Given the description of an element on the screen output the (x, y) to click on. 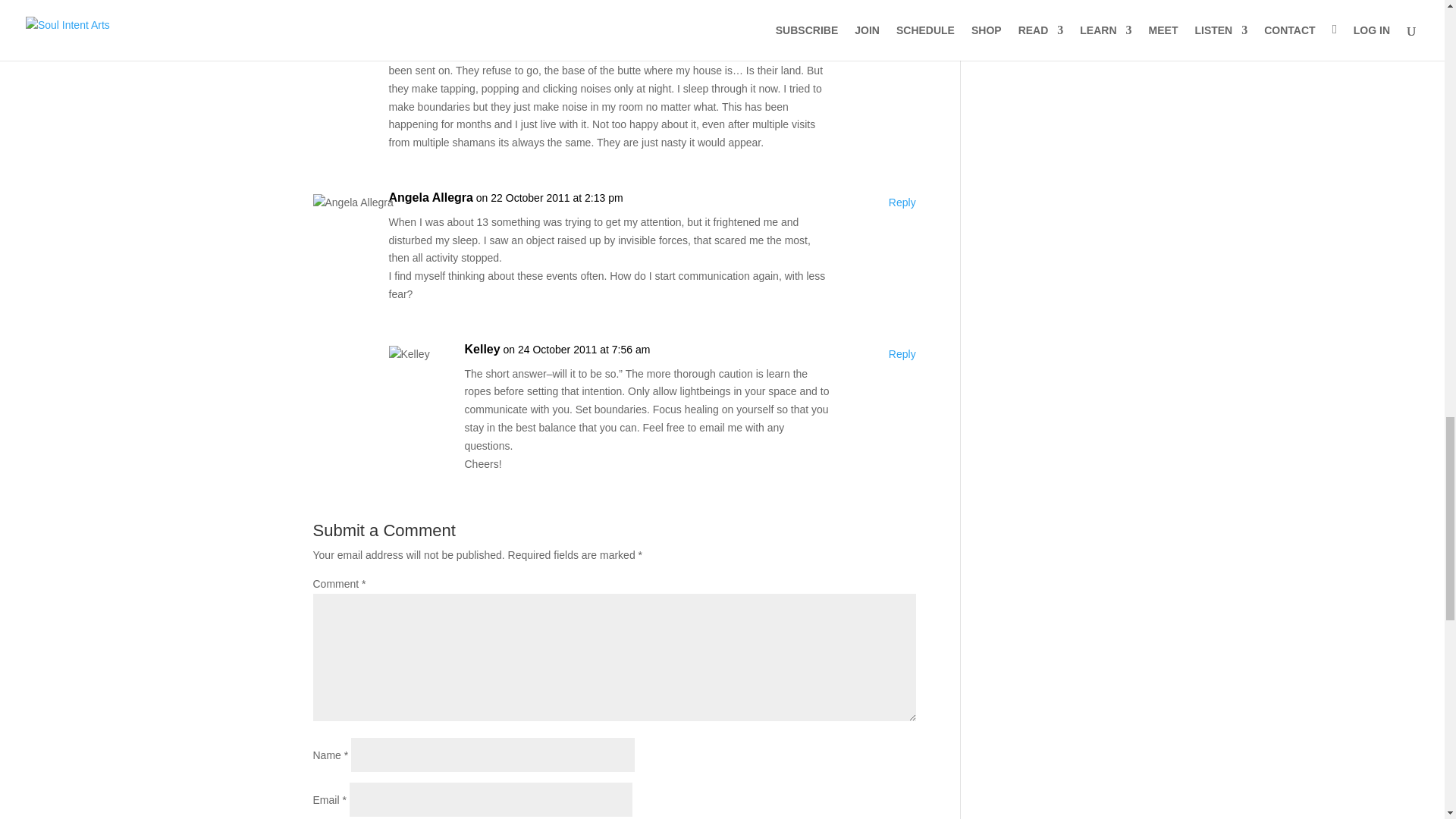
Reply (901, 33)
Kelley (481, 349)
Reply (901, 203)
Reply (901, 354)
